Given the description of an element on the screen output the (x, y) to click on. 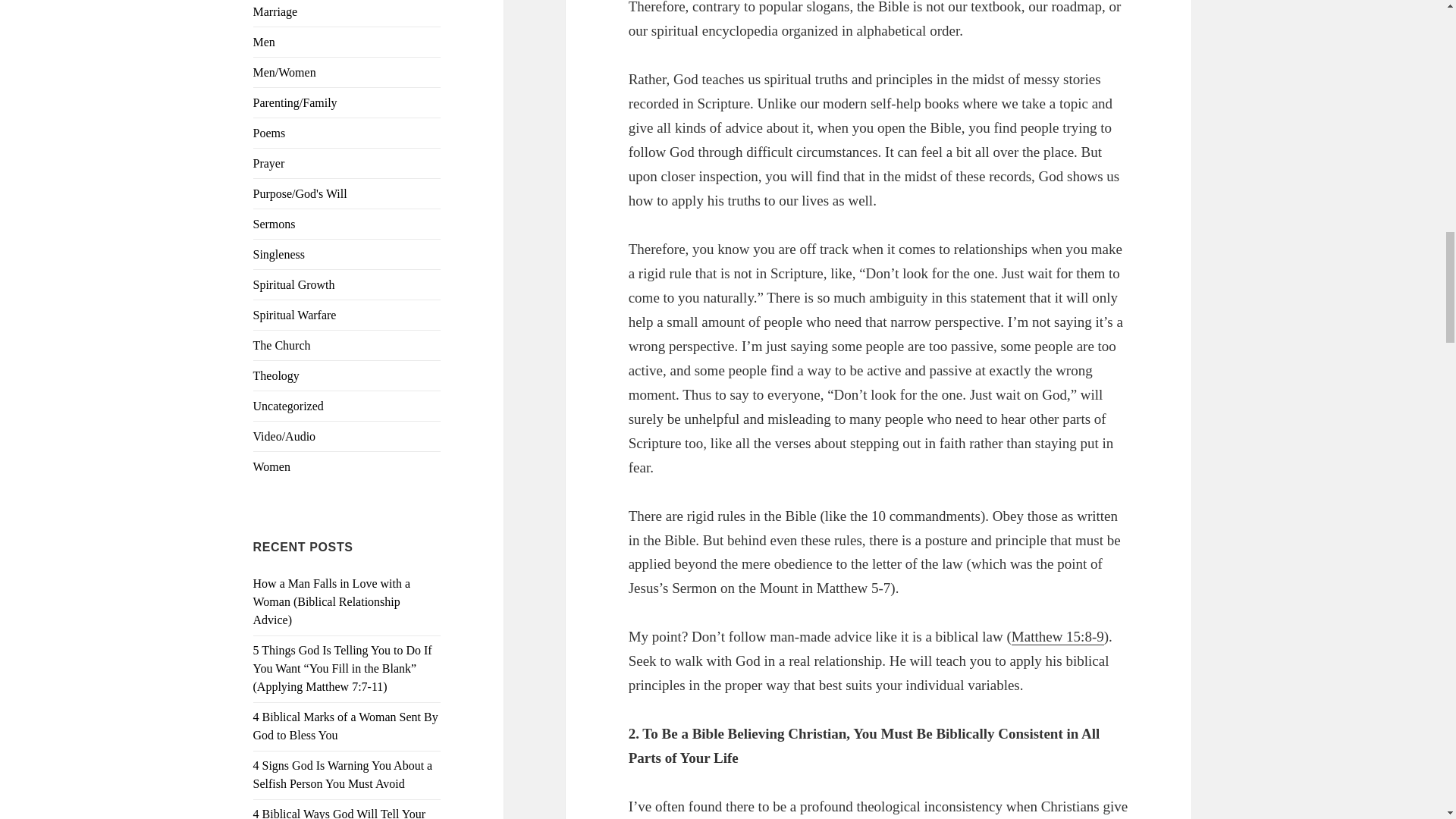
The Church (282, 345)
Theology (276, 375)
Prayer (269, 163)
Men (264, 42)
Singleness (278, 254)
Spiritual Warfare (294, 314)
Spiritual Growth (293, 284)
Poems (269, 132)
Marriage (275, 11)
Sermons (274, 223)
